Given the description of an element on the screen output the (x, y) to click on. 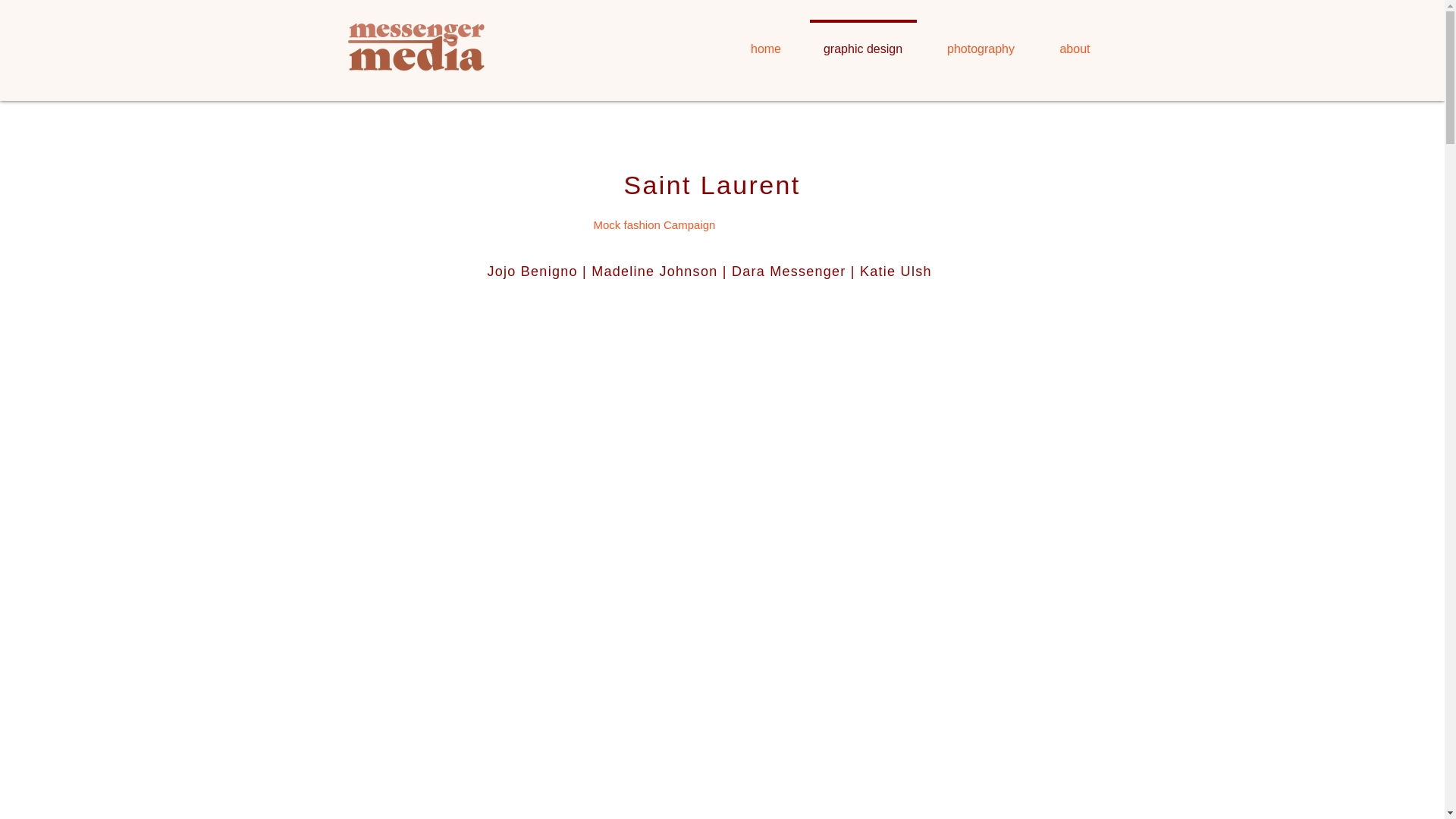
about (1074, 42)
photography (979, 42)
graphic design (863, 42)
home (765, 42)
